Given the description of an element on the screen output the (x, y) to click on. 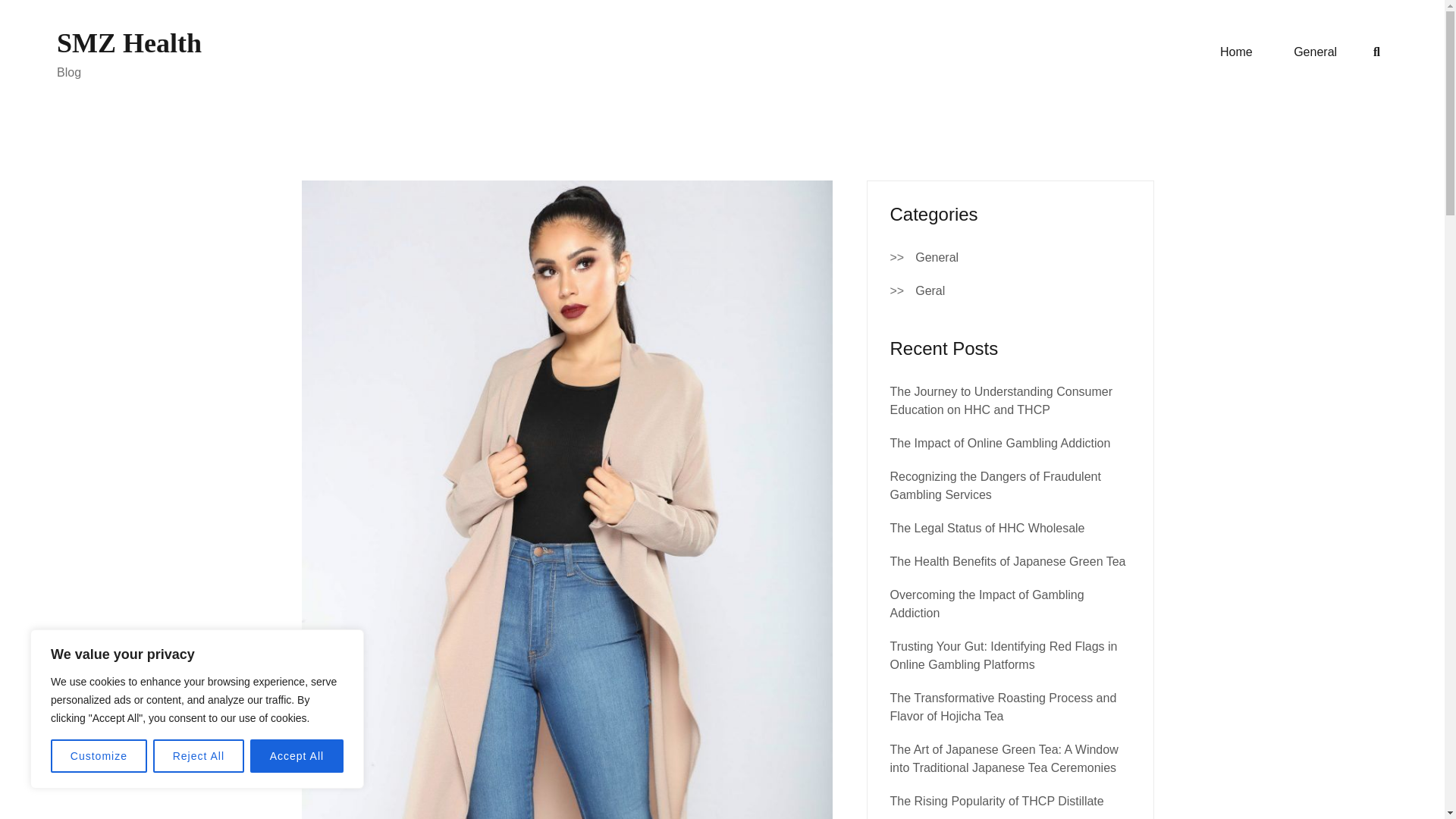
Home (1236, 52)
General (936, 257)
The Impact of Online Gambling Addiction (999, 442)
General (1315, 52)
Geral (929, 290)
Accept All (296, 756)
Customize (98, 756)
Reject All (198, 756)
The Health Benefits of Japanese Green Tea (1007, 561)
Recognizing the Dangers of Fraudulent Gambling Services (994, 485)
The Legal Status of HHC Wholesale (986, 527)
SMZ Health (129, 42)
